Given the description of an element on the screen output the (x, y) to click on. 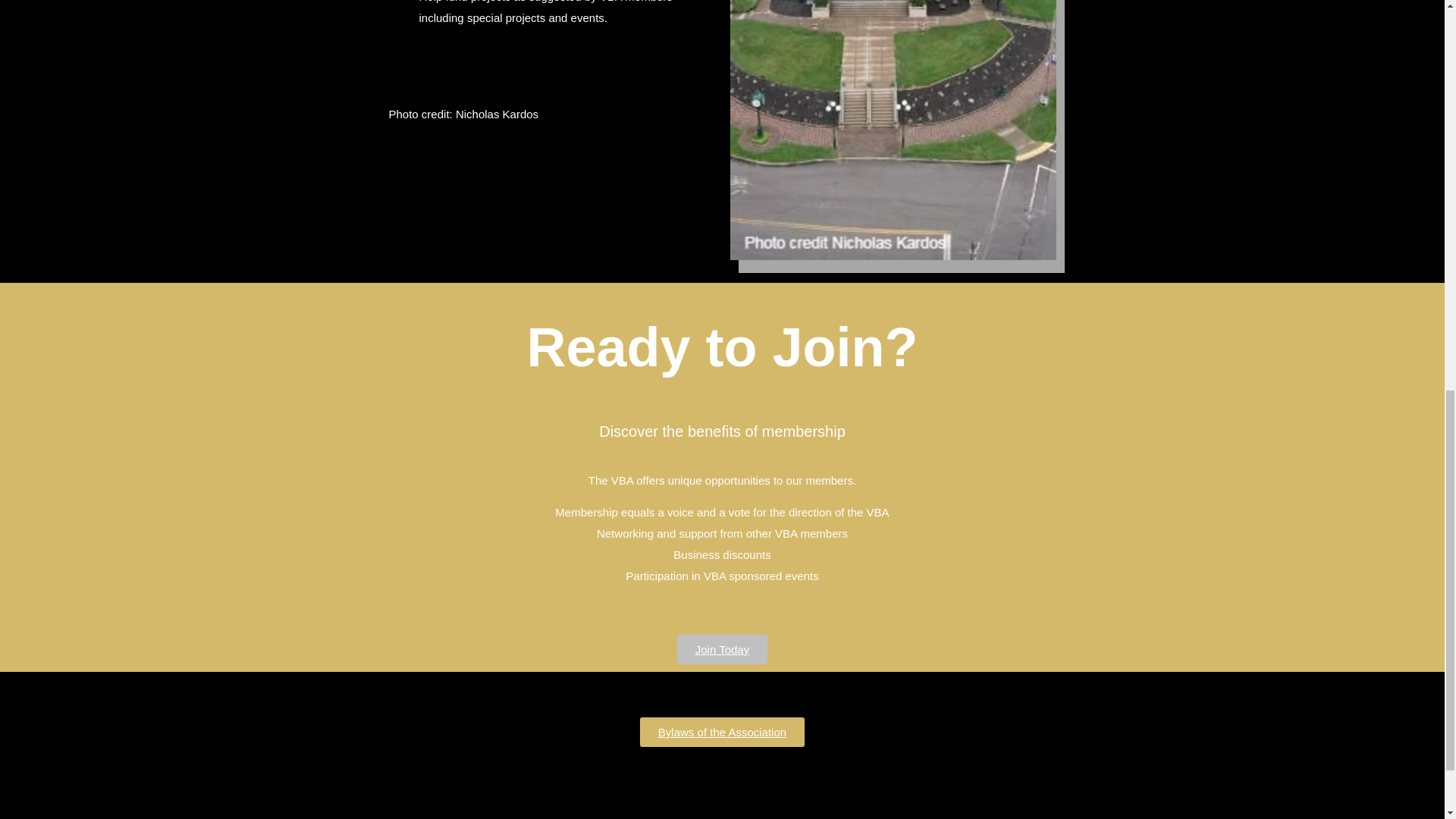
Bylaws of the Association (722, 731)
Join Today (722, 649)
